Given the description of an element on the screen output the (x, y) to click on. 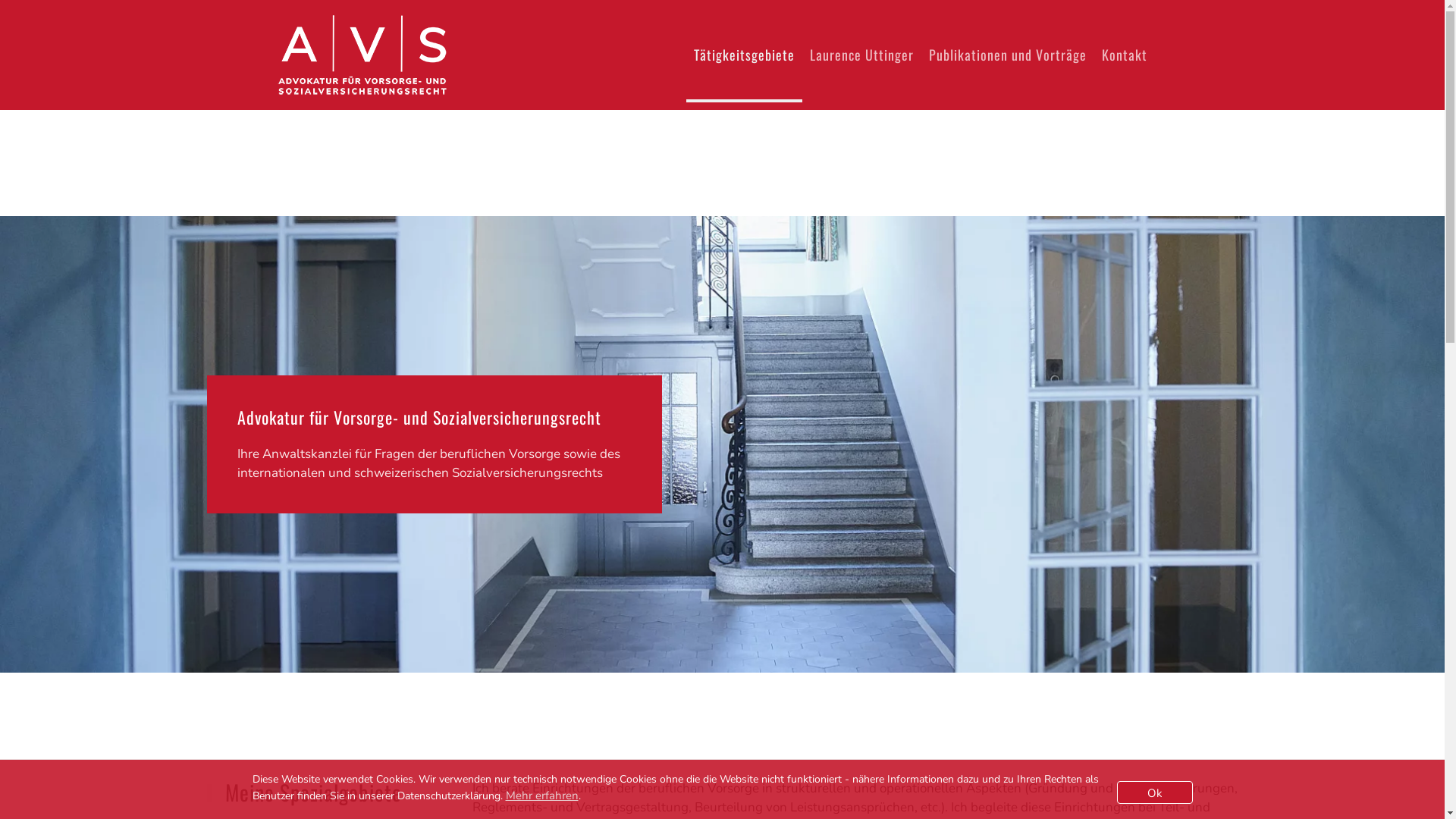
Kontakt Element type: text (1123, 54)
Mehr erfahren Element type: text (541, 794)
Laurence Uttinger Element type: text (861, 54)
